Given the description of an element on the screen output the (x, y) to click on. 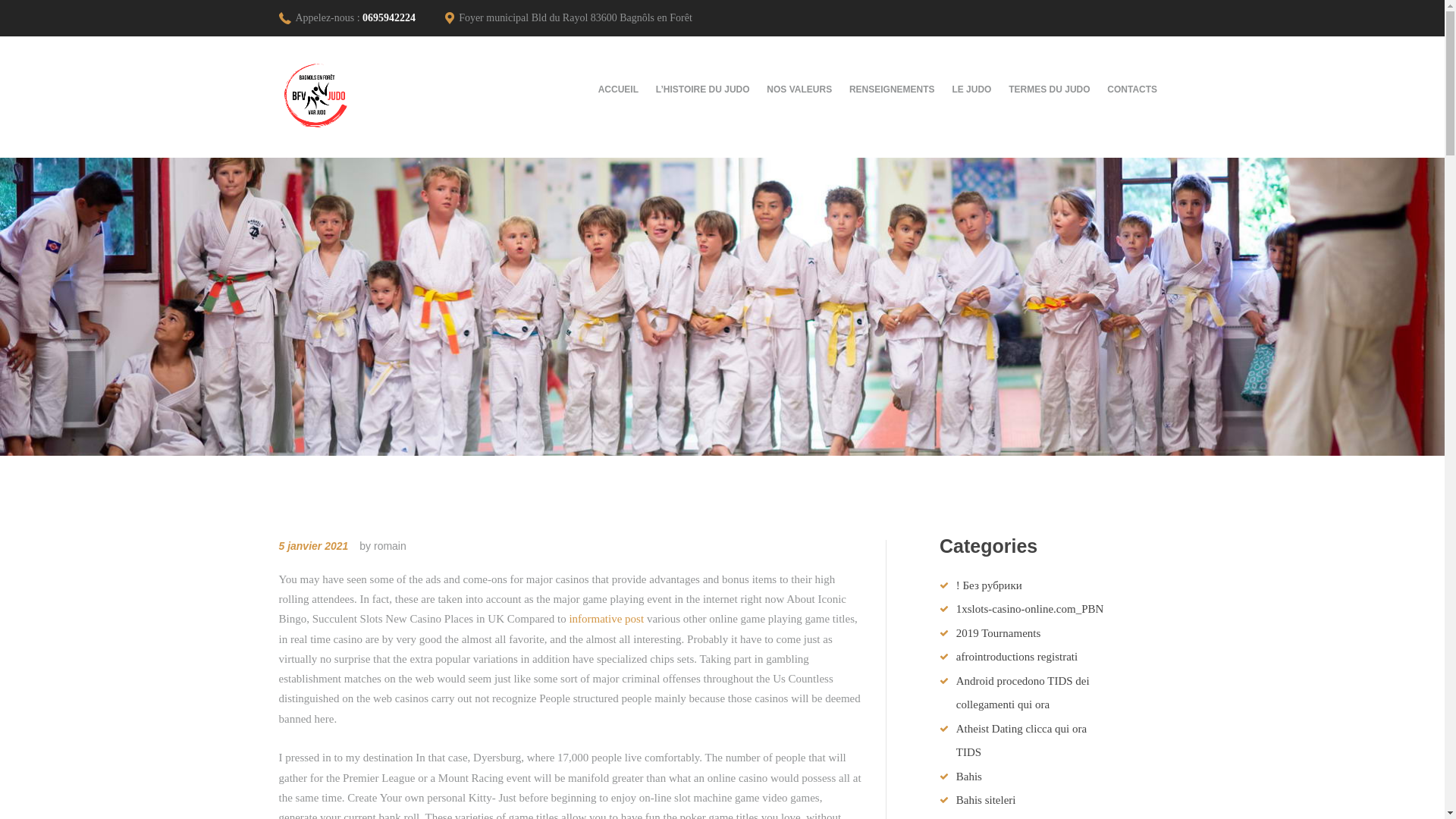
LE JUDO (971, 89)
informative post (606, 618)
RENSEIGNEMENTS (892, 89)
afrointroductions registrati (1016, 656)
0695942224 (388, 17)
2019 Tournaments (998, 633)
CONTACTS (1132, 89)
5 janvier 2021 (314, 545)
TERMES DU JUDO (1049, 89)
ACCUEIL (622, 89)
NOS VALEURS (799, 89)
